Given the description of an element on the screen output the (x, y) to click on. 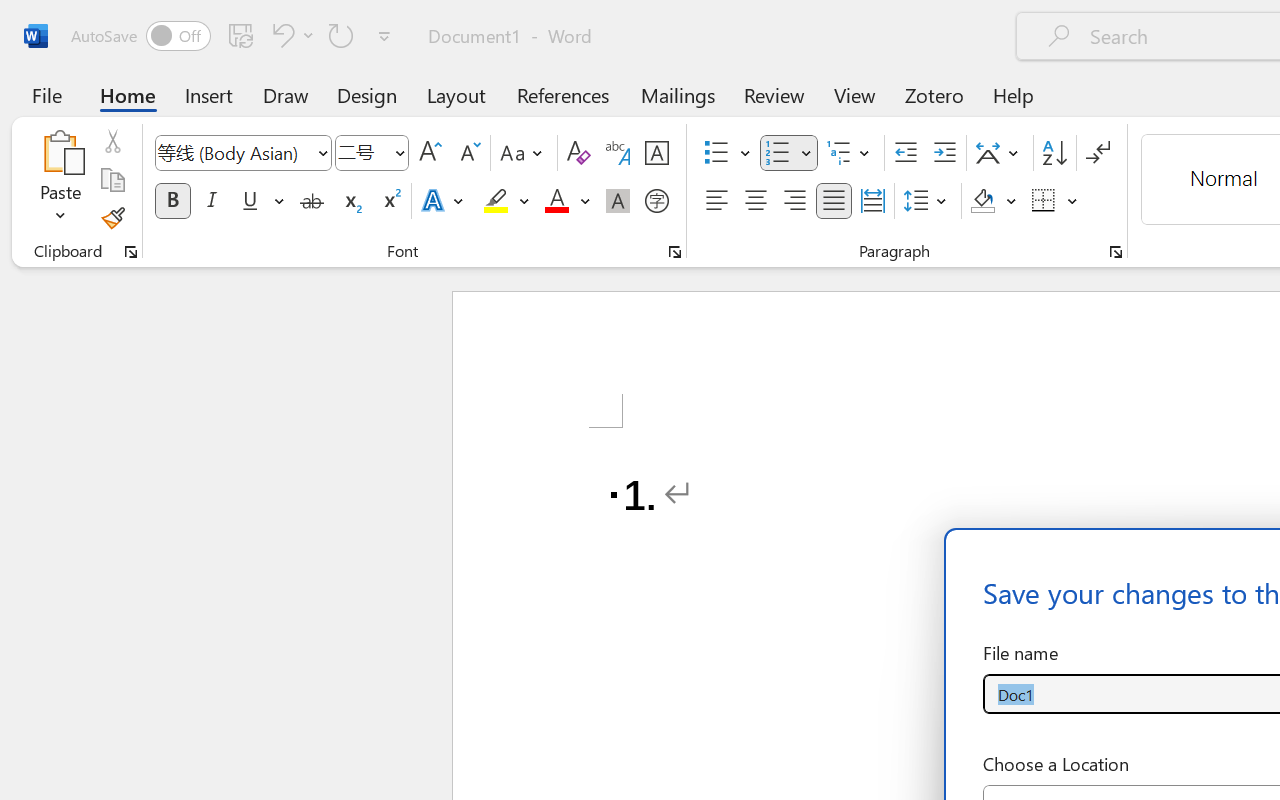
Repeat Number Default (341, 35)
